Given the description of an element on the screen output the (x, y) to click on. 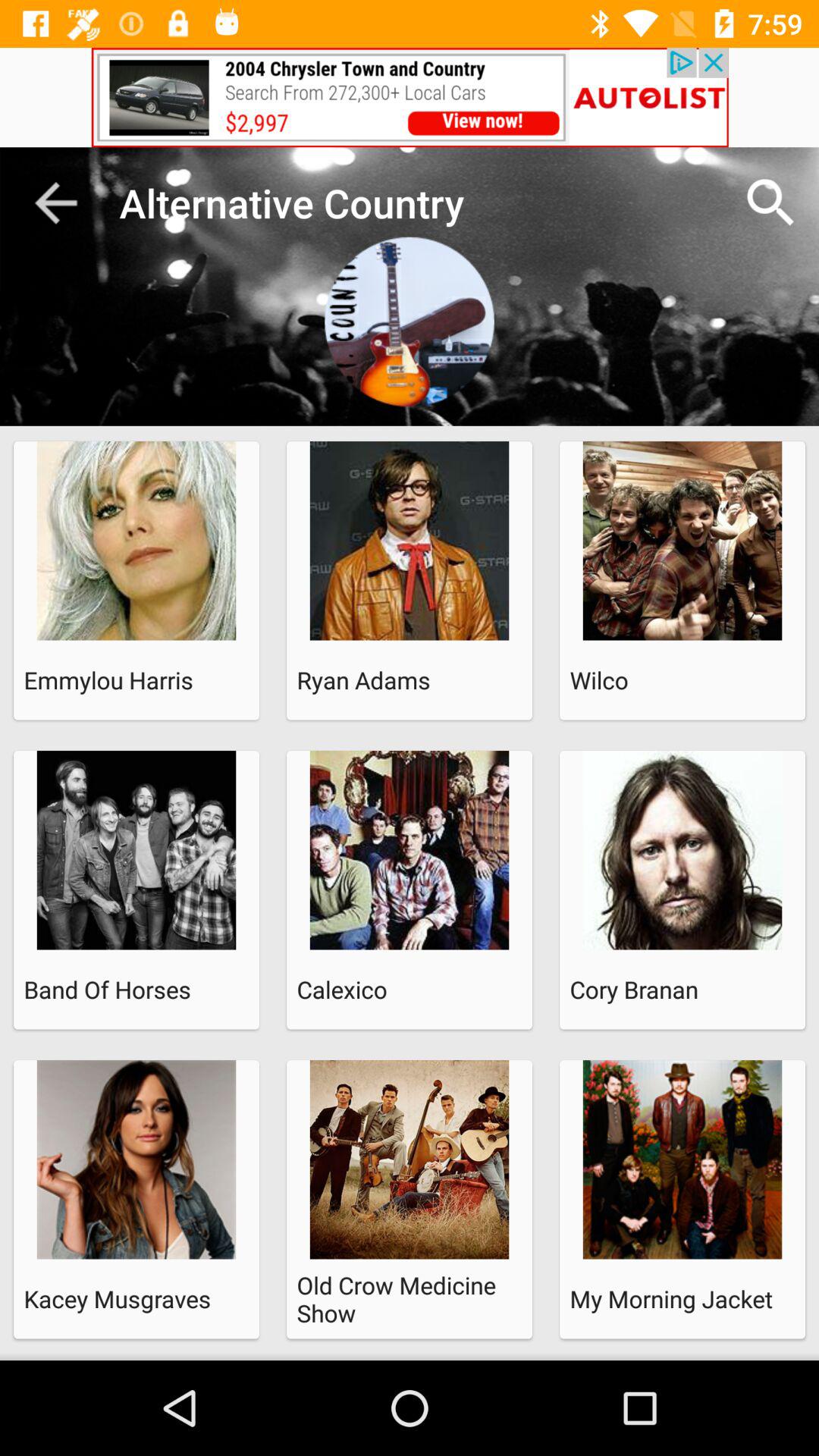
advertisement bar (409, 97)
